Given the description of an element on the screen output the (x, y) to click on. 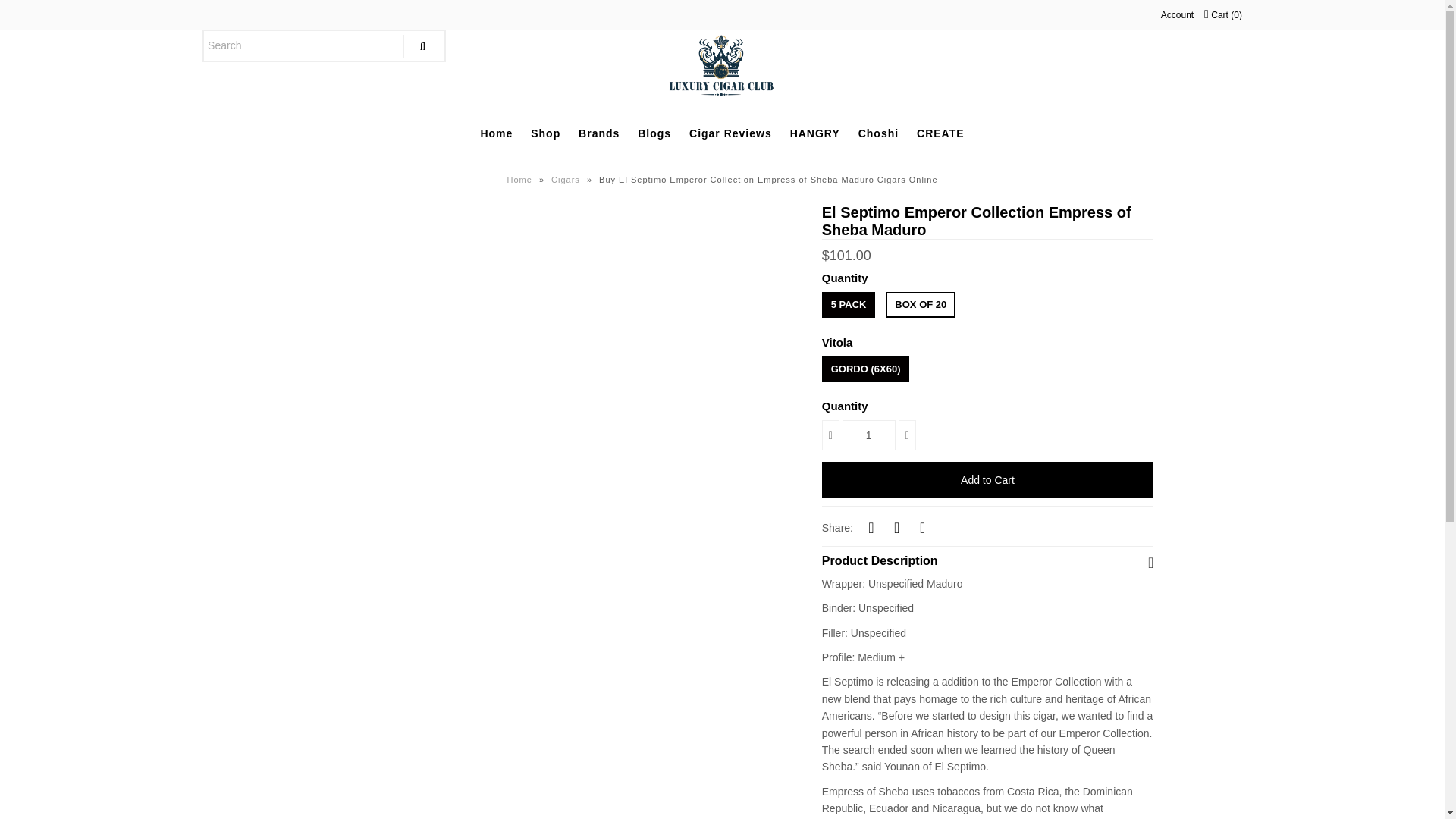
Share on Facebook (871, 526)
Add to Cart (988, 479)
Cigars (567, 179)
Choshi (877, 133)
HANGRY (815, 133)
Blogs (654, 133)
Product Description (988, 557)
Account (1176, 14)
CREATE (940, 133)
Home (520, 179)
Cigar Reviews (729, 133)
Share on Twitter (896, 526)
Home (520, 179)
1 (869, 435)
Add to Cart (988, 479)
